Given the description of an element on the screen output the (x, y) to click on. 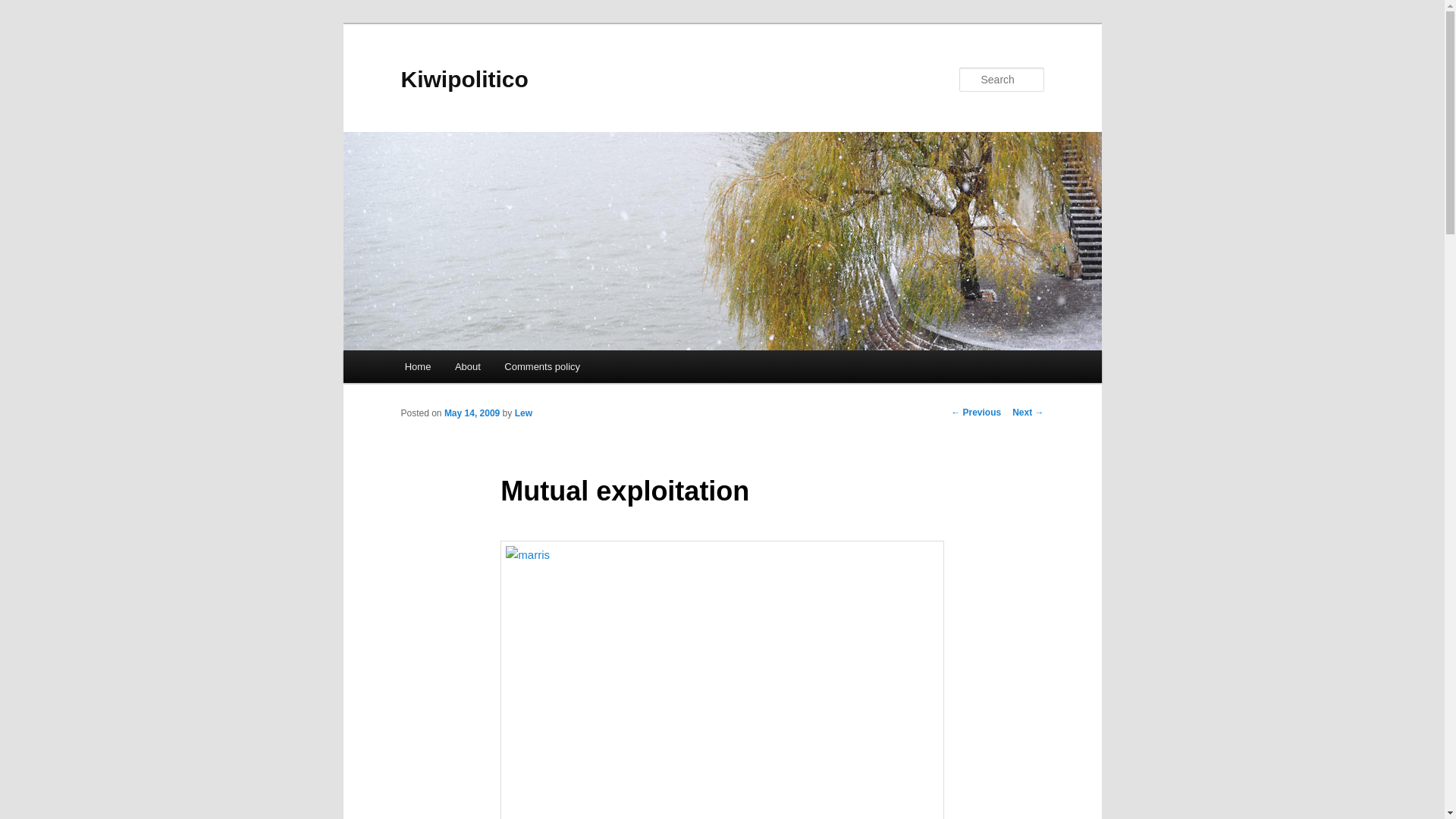
Home (417, 366)
May 14, 2009 (471, 412)
Lew (523, 412)
marris (721, 679)
About (467, 366)
View all posts by Lew (523, 412)
Search (24, 8)
13:42 (471, 412)
Kiwipolitico (463, 78)
